Given the description of an element on the screen output the (x, y) to click on. 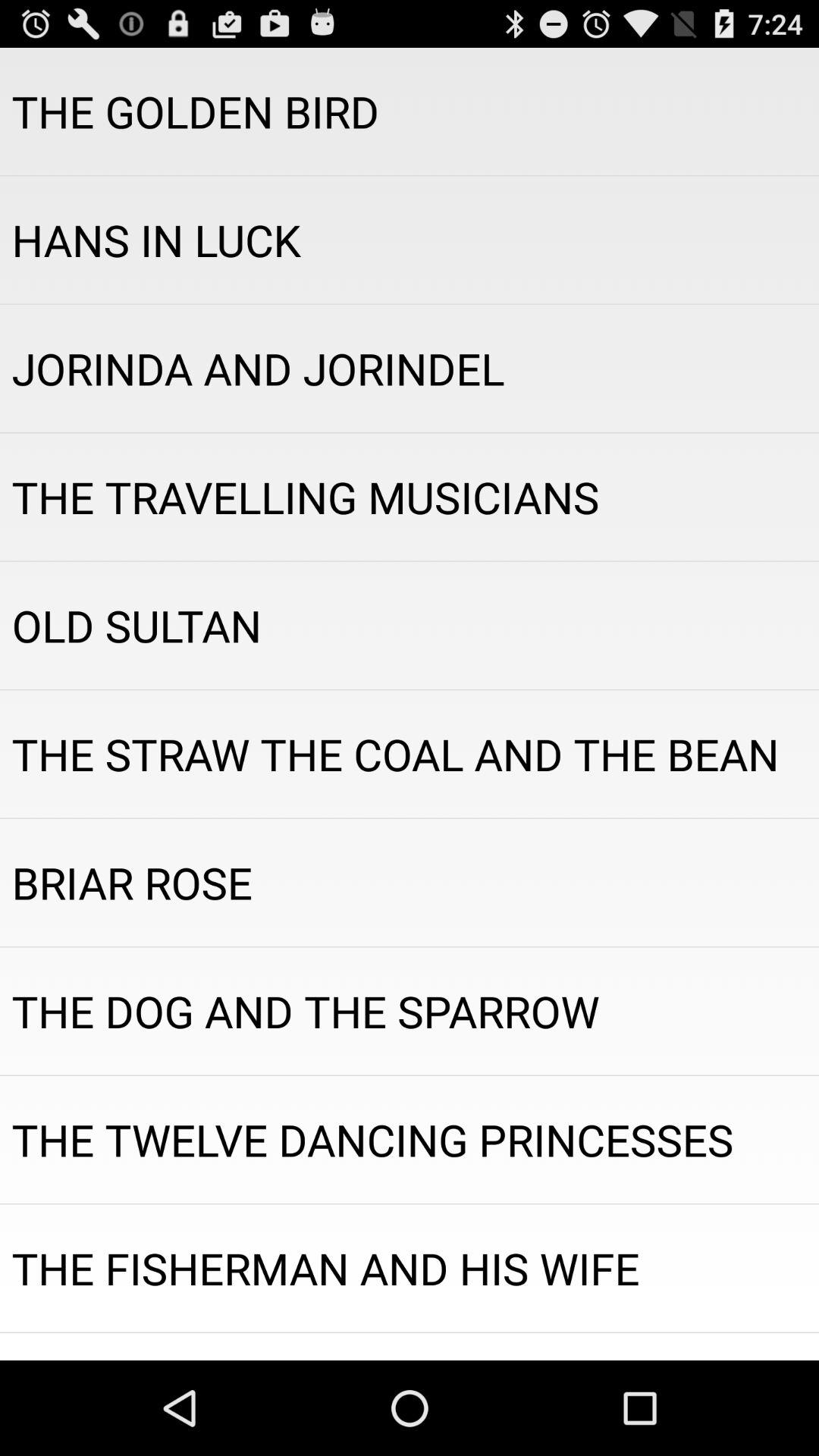
scroll to the straw the item (409, 753)
